Given the description of an element on the screen output the (x, y) to click on. 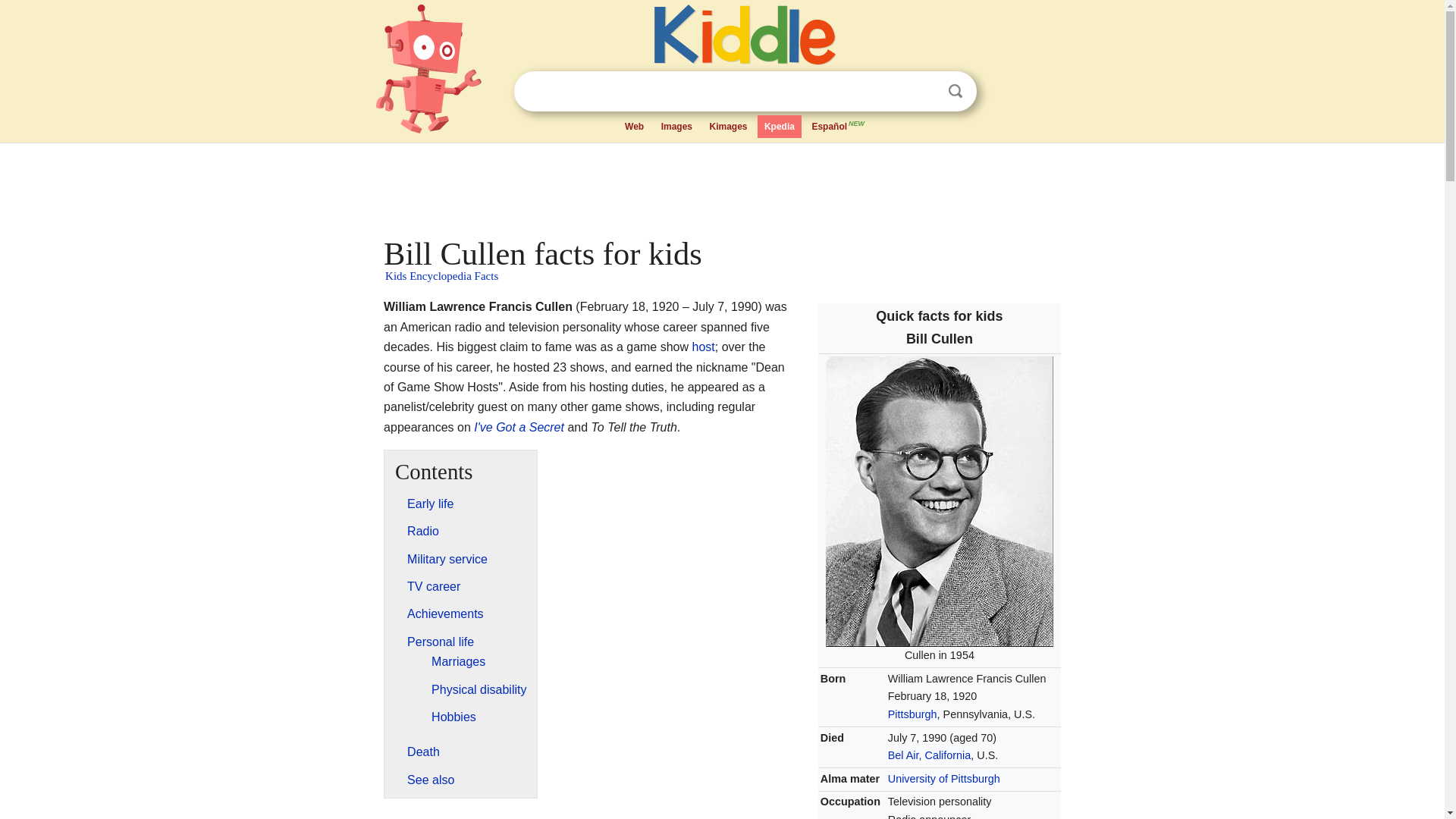
Military service (447, 558)
Kimages (727, 126)
Pittsburgh (912, 714)
Early life (429, 503)
Pittsburgh (912, 714)
Personal life (440, 641)
TV career (433, 585)
Emcee (703, 346)
Achievements (445, 613)
host (703, 346)
